Given the description of an element on the screen output the (x, y) to click on. 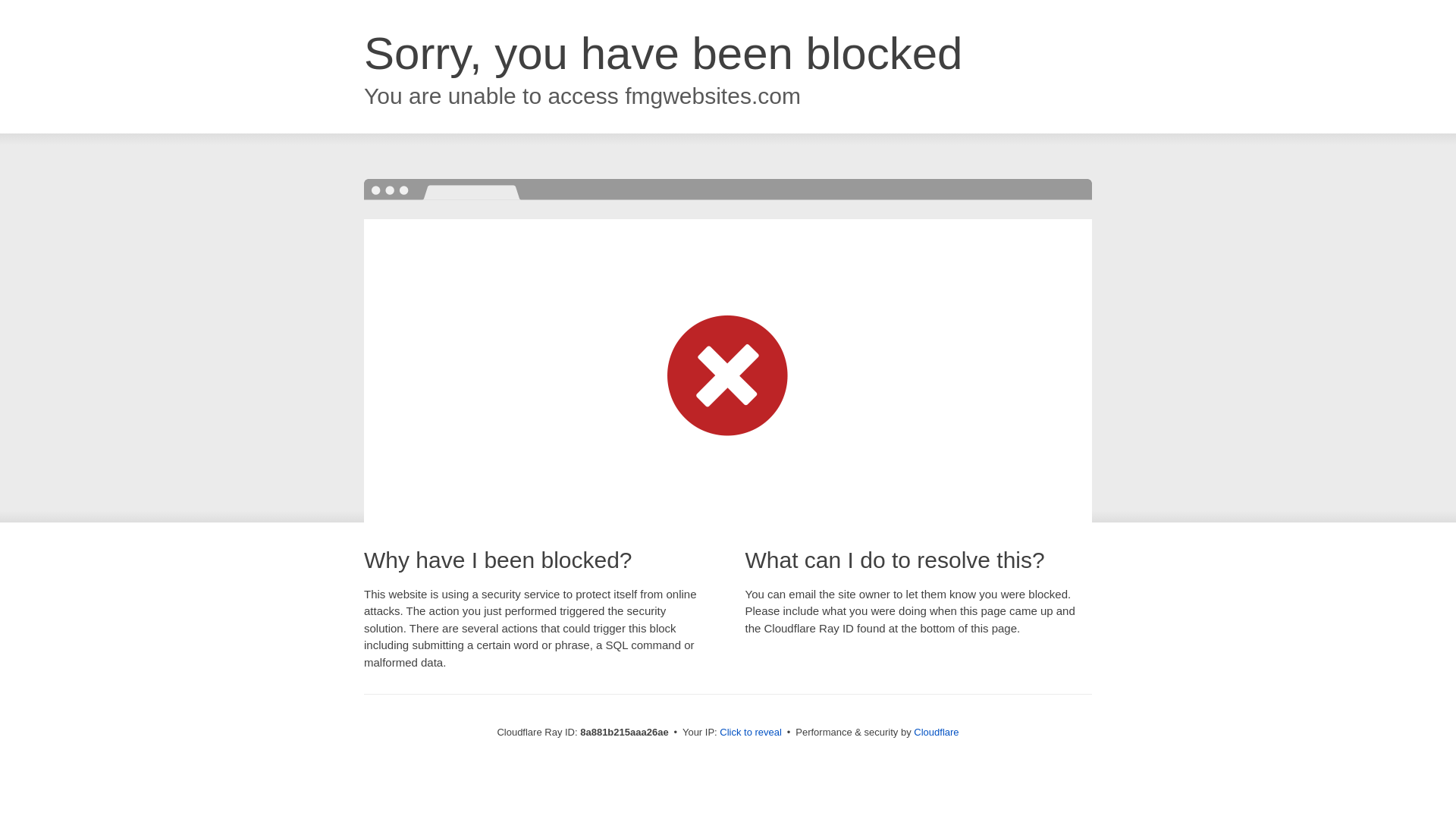
Click to reveal (750, 732)
Cloudflare (936, 731)
